Given the description of an element on the screen output the (x, y) to click on. 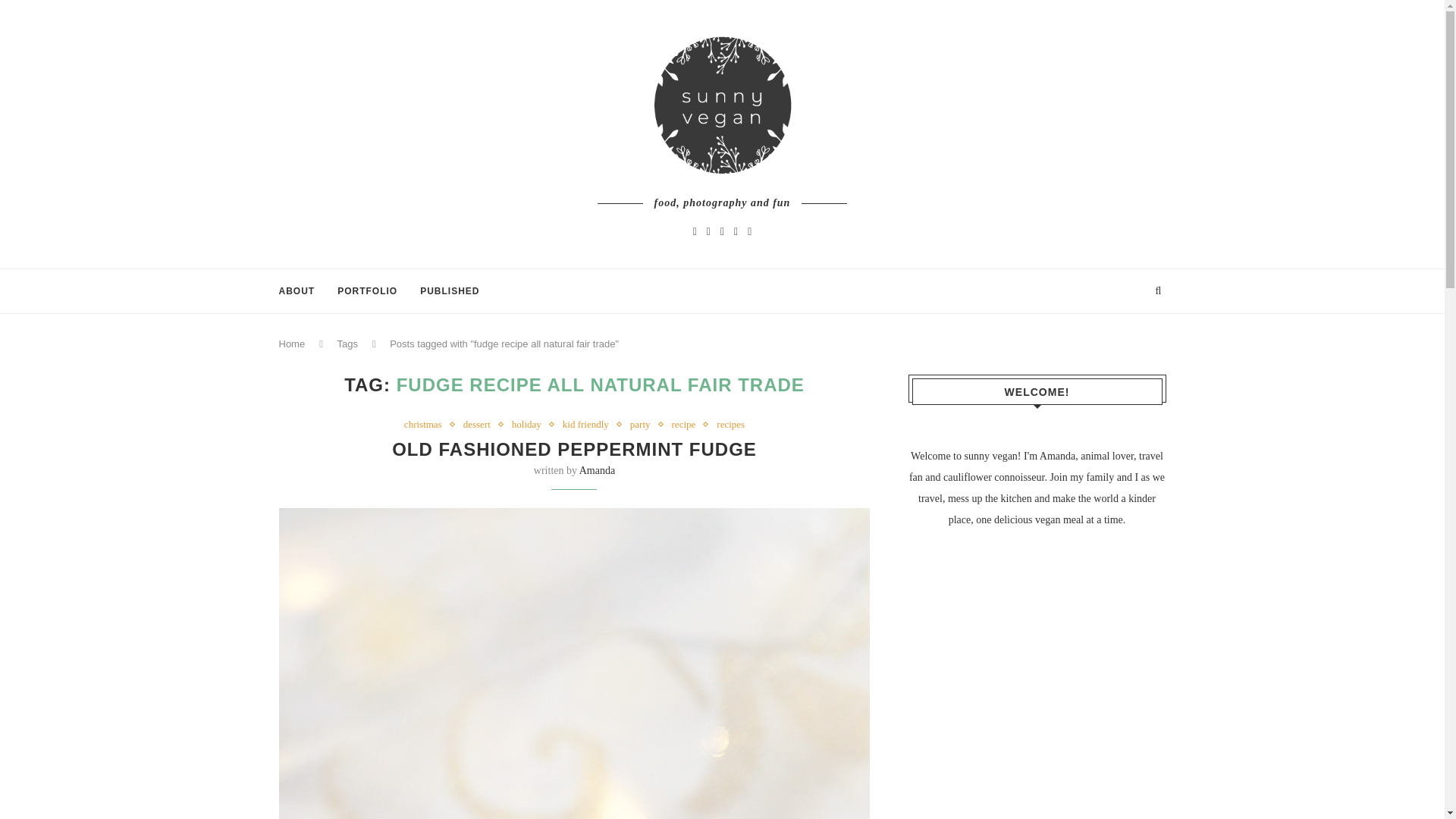
PUBLISHED (449, 290)
recipe (687, 424)
PORTFOLIO (367, 290)
dessert (480, 424)
OLD FASHIONED PEPPERMINT FUDGE (574, 448)
Home (292, 343)
christmas (426, 424)
recipes (730, 424)
party (644, 424)
holiday (530, 424)
Amanda (596, 470)
kid friendly (588, 424)
